Given the description of an element on the screen output the (x, y) to click on. 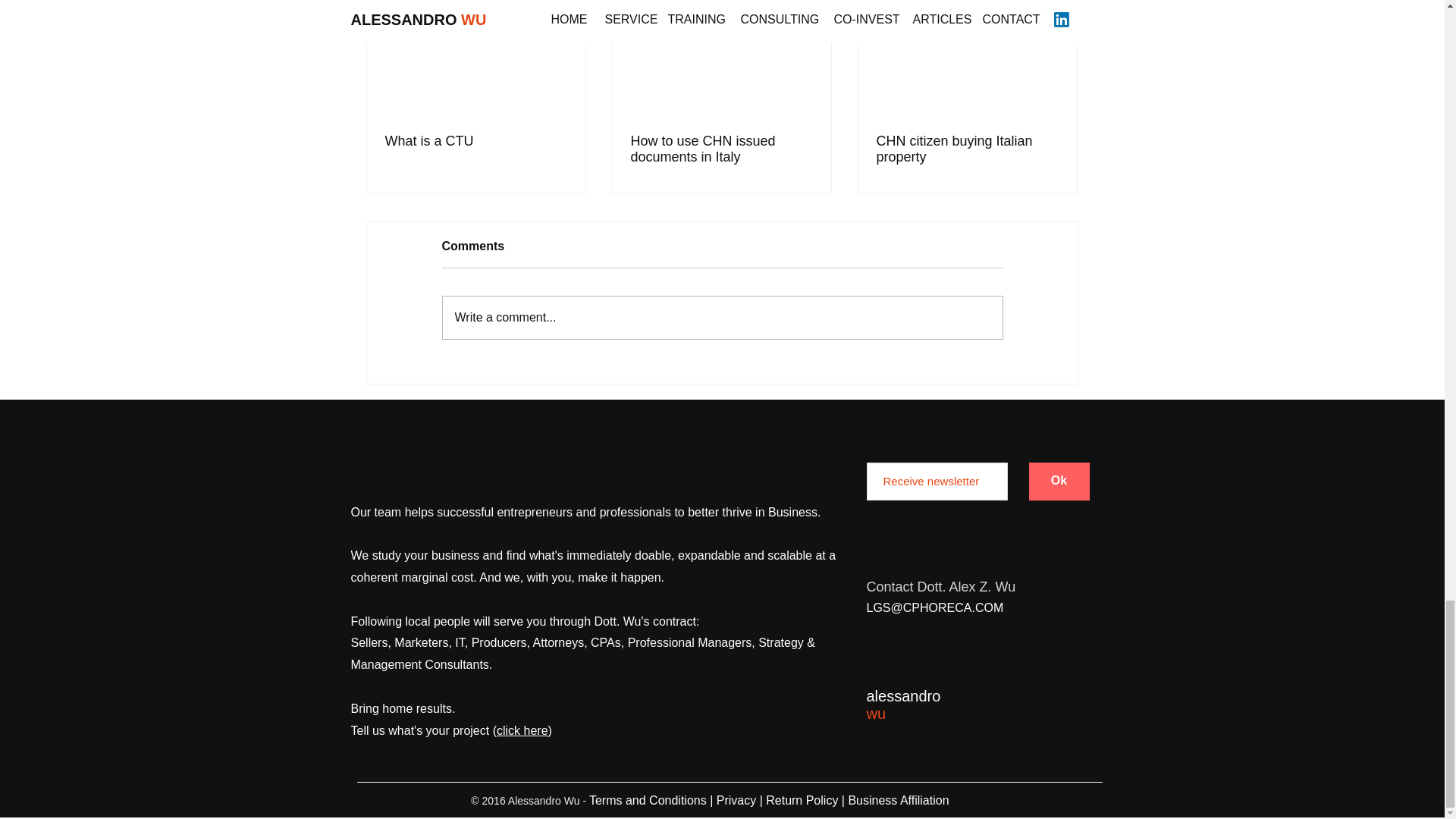
What is a CTU (476, 141)
How to use CHN issued documents in Italy (721, 149)
